Given the description of an element on the screen output the (x, y) to click on. 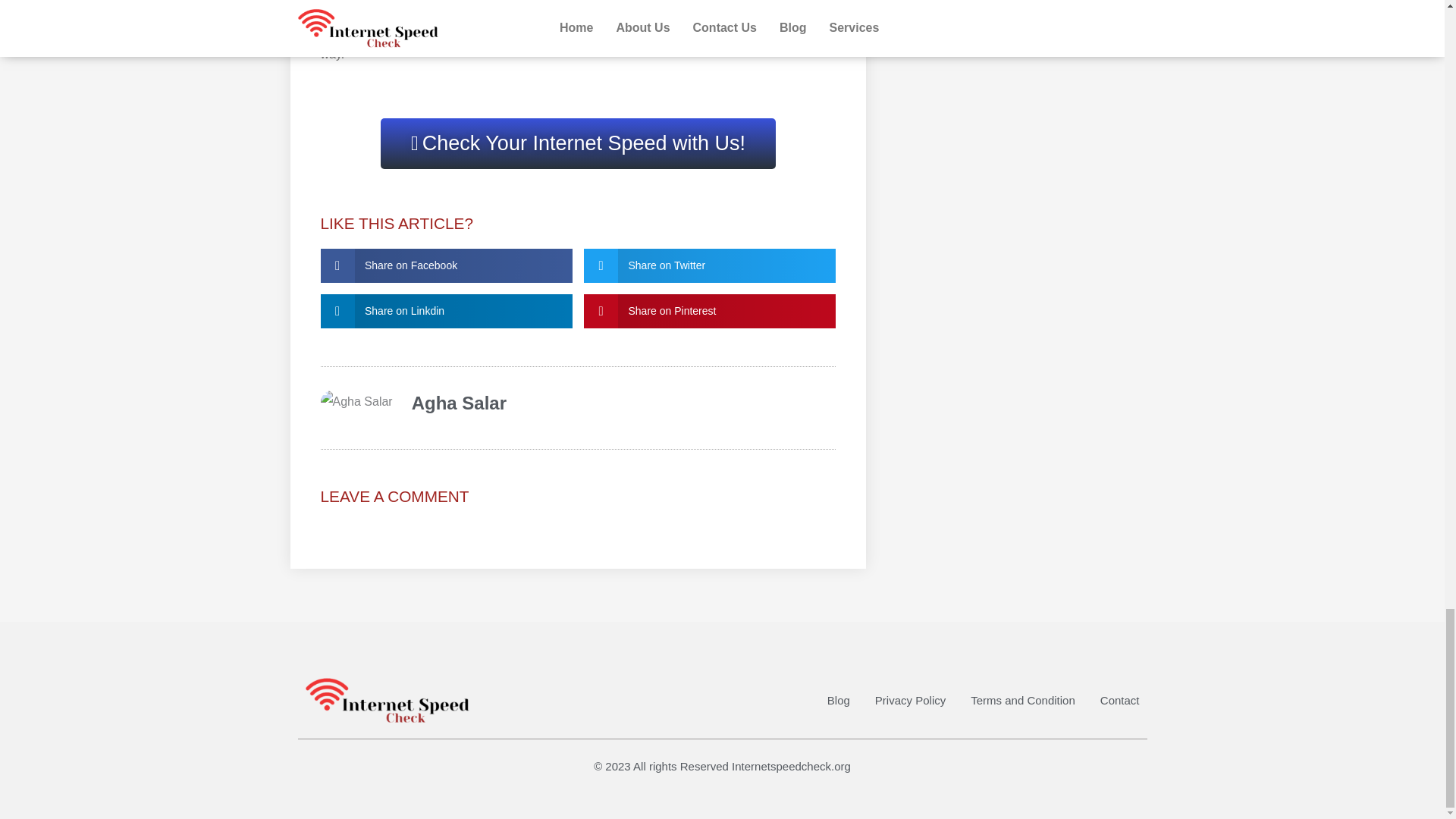
Check Your Internet Speed with Us! (578, 142)
Privacy Policy (909, 700)
Blog (838, 700)
Terms and Condition (1023, 700)
Contact (1120, 700)
